Given the description of an element on the screen output the (x, y) to click on. 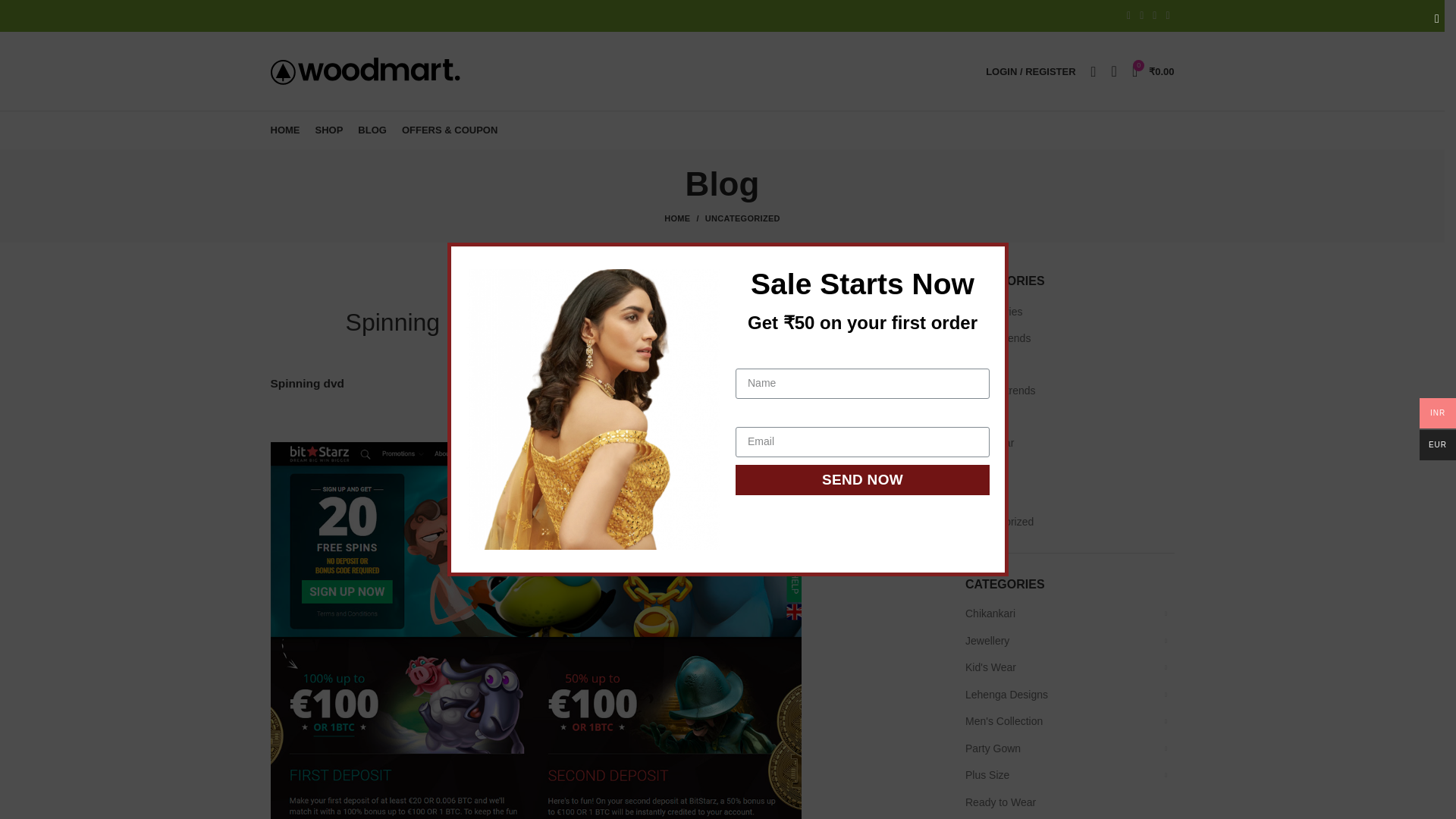
SHOP (328, 130)
Test36344359 (643, 351)
UNCATEGORIZED (742, 217)
Shopping cart (1153, 71)
UNCATEGORIZED (606, 281)
Log in (950, 312)
SEND NOW (862, 480)
HOME (683, 218)
Spinning dvd (306, 382)
BLOG (372, 130)
HOME (284, 130)
My account (1030, 71)
